Given the description of an element on the screen output the (x, y) to click on. 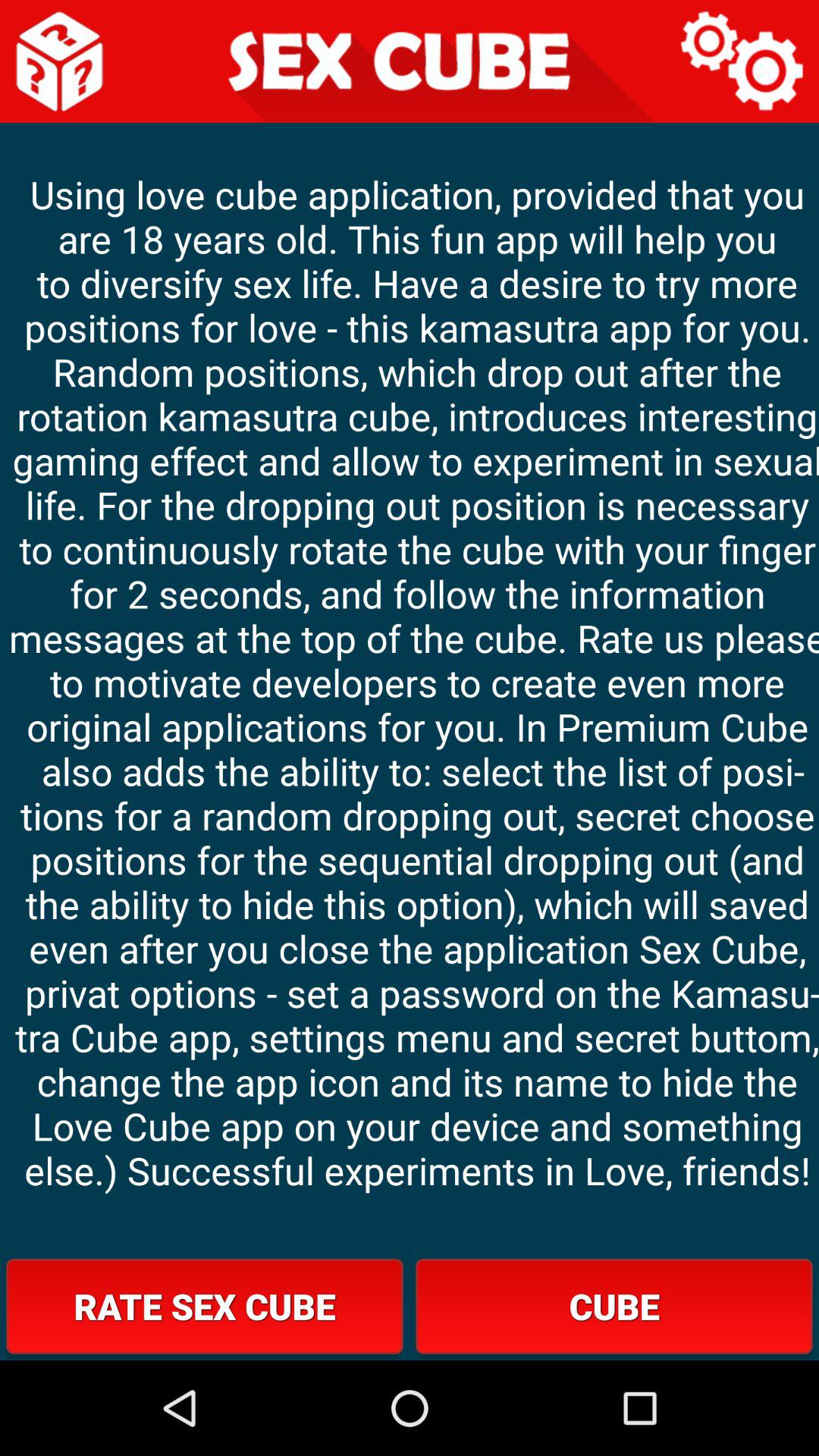
settings option (743, 61)
